Given the description of an element on the screen output the (x, y) to click on. 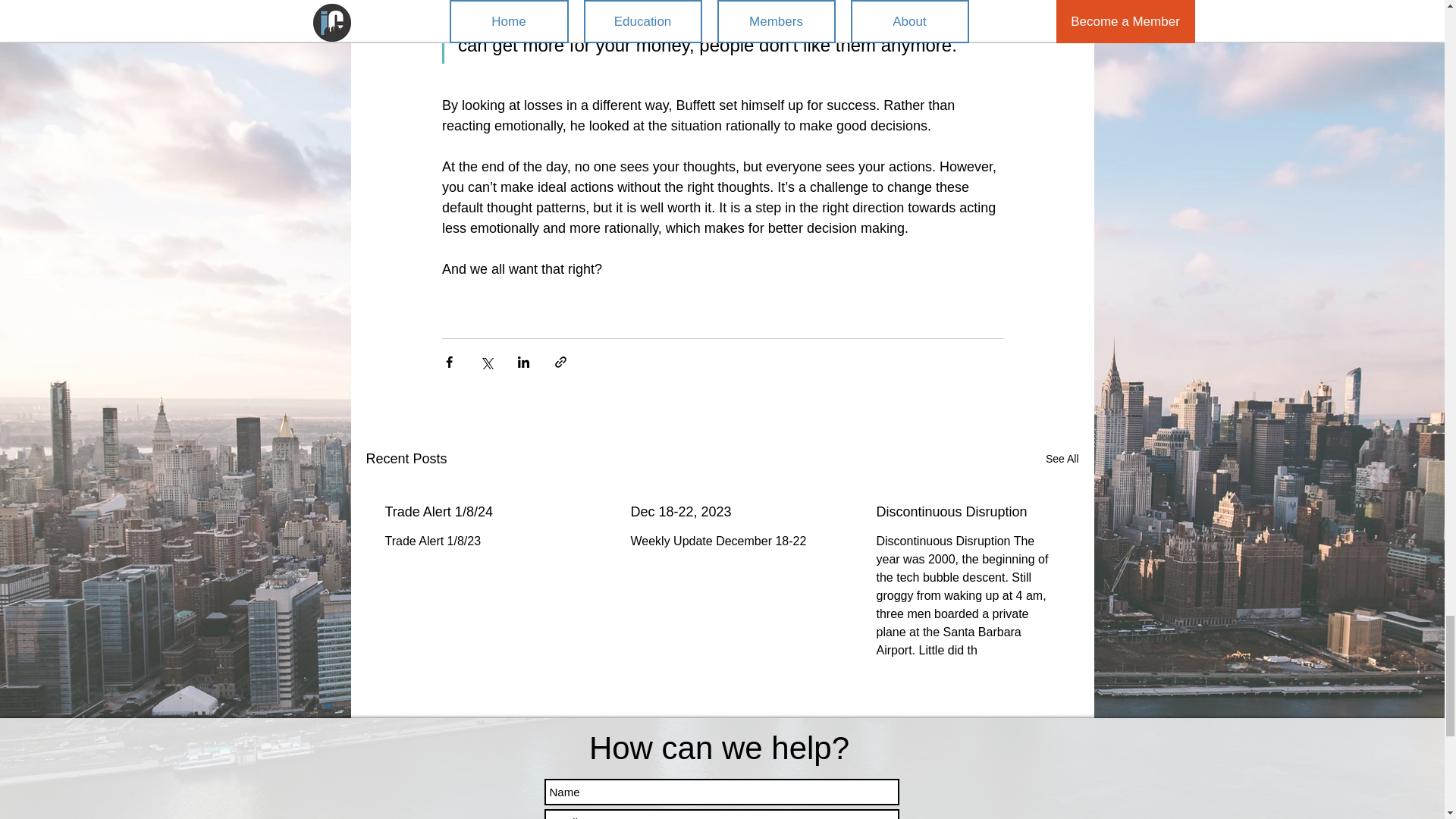
See All (1061, 458)
Discontinuous Disruption (967, 512)
Dec 18-22, 2023 (721, 512)
